Given the description of an element on the screen output the (x, y) to click on. 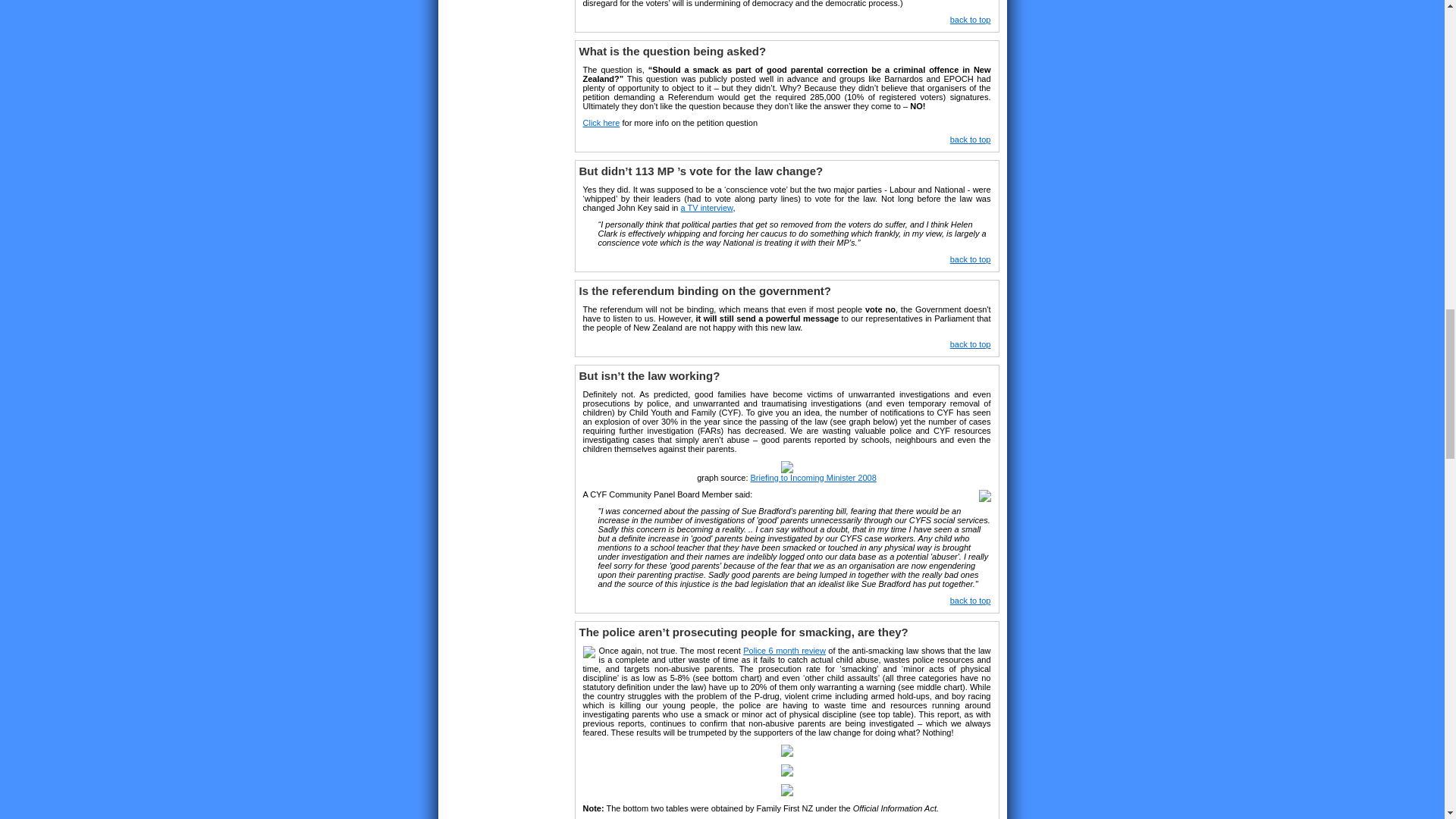
click to hear audio (707, 207)
